Given the description of an element on the screen output the (x, y) to click on. 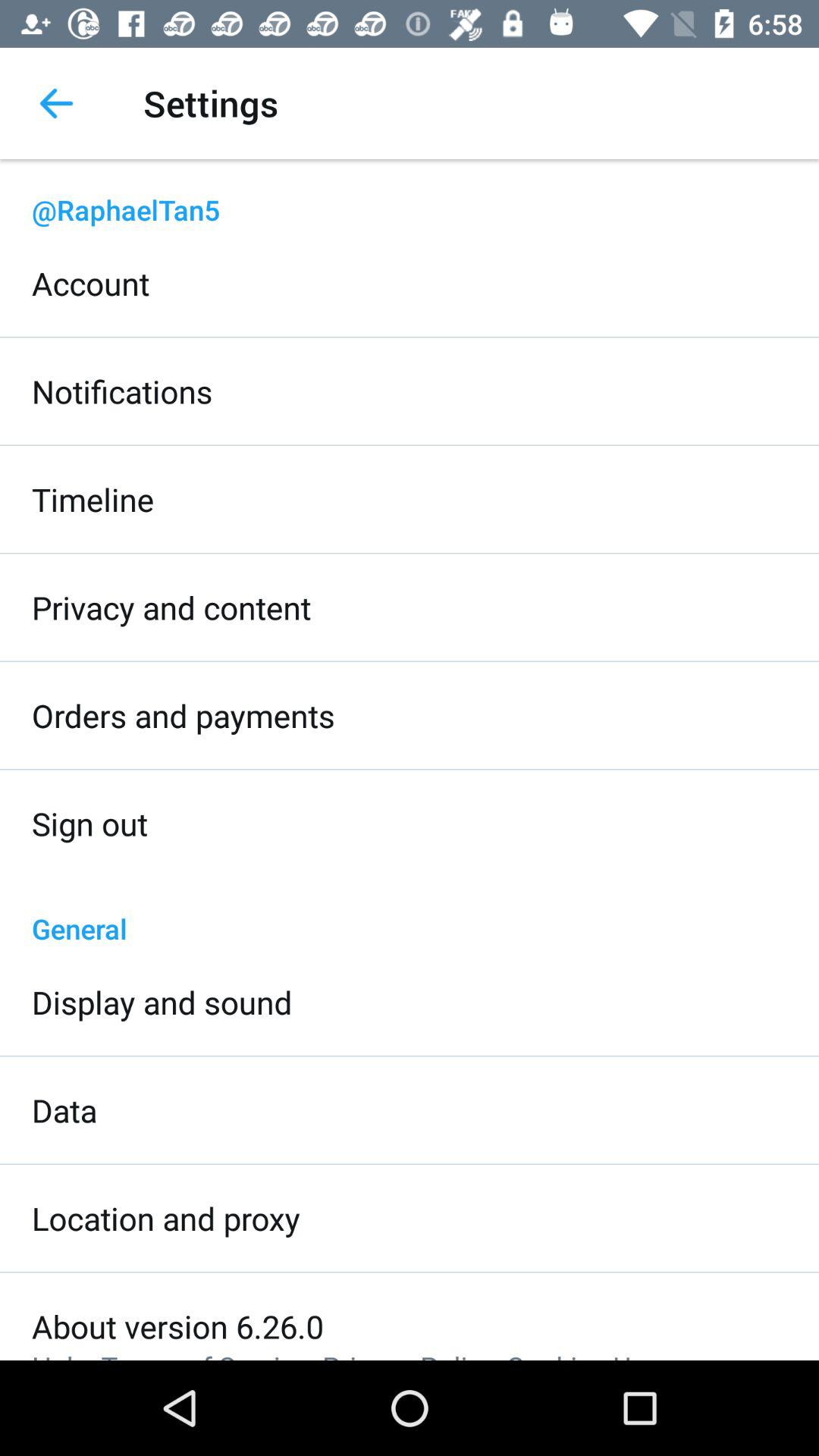
press the icon below the data (165, 1217)
